Given the description of an element on the screen output the (x, y) to click on. 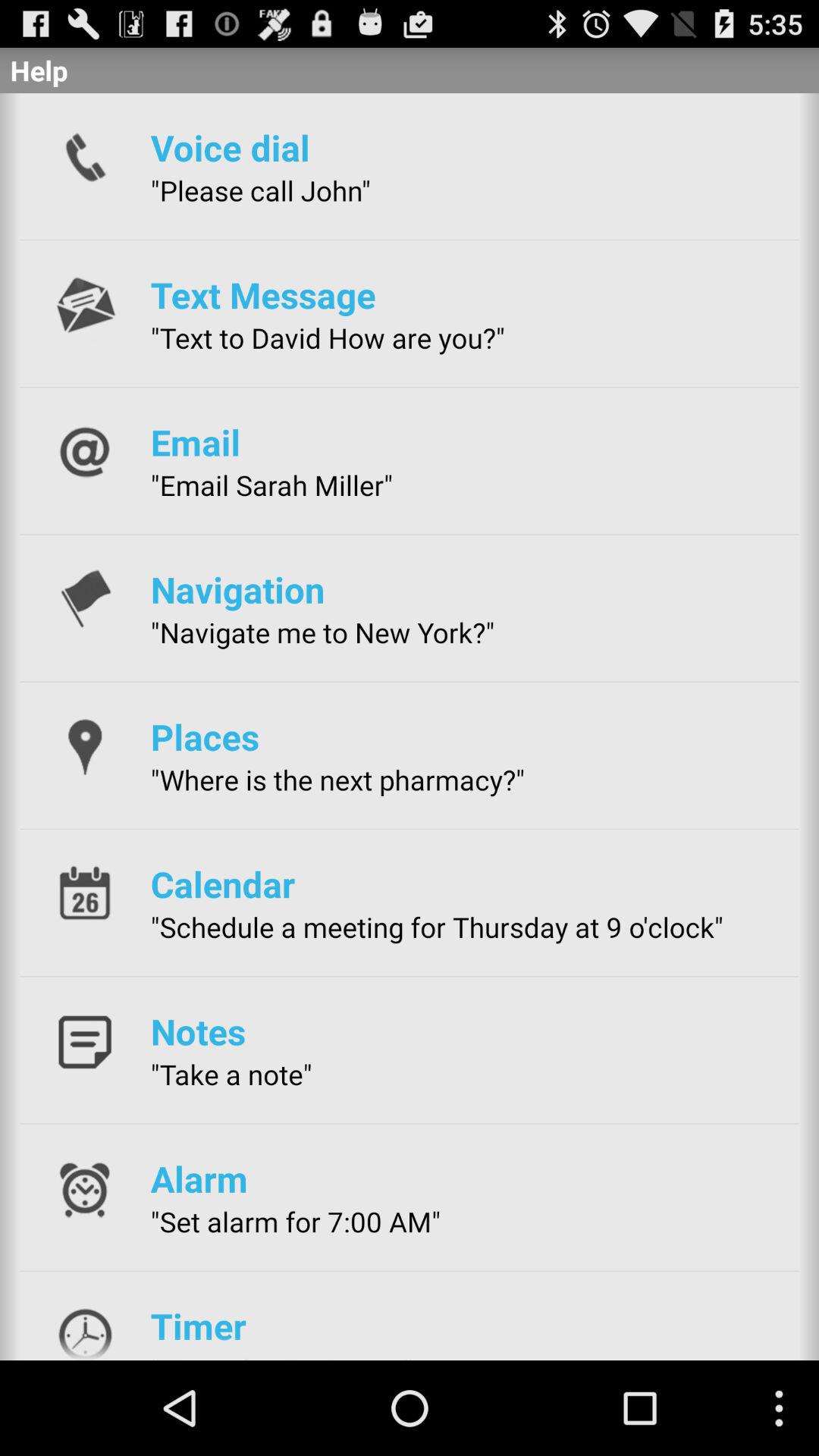
scroll to set alarm for app (295, 1221)
